Given the description of an element on the screen output the (x, y) to click on. 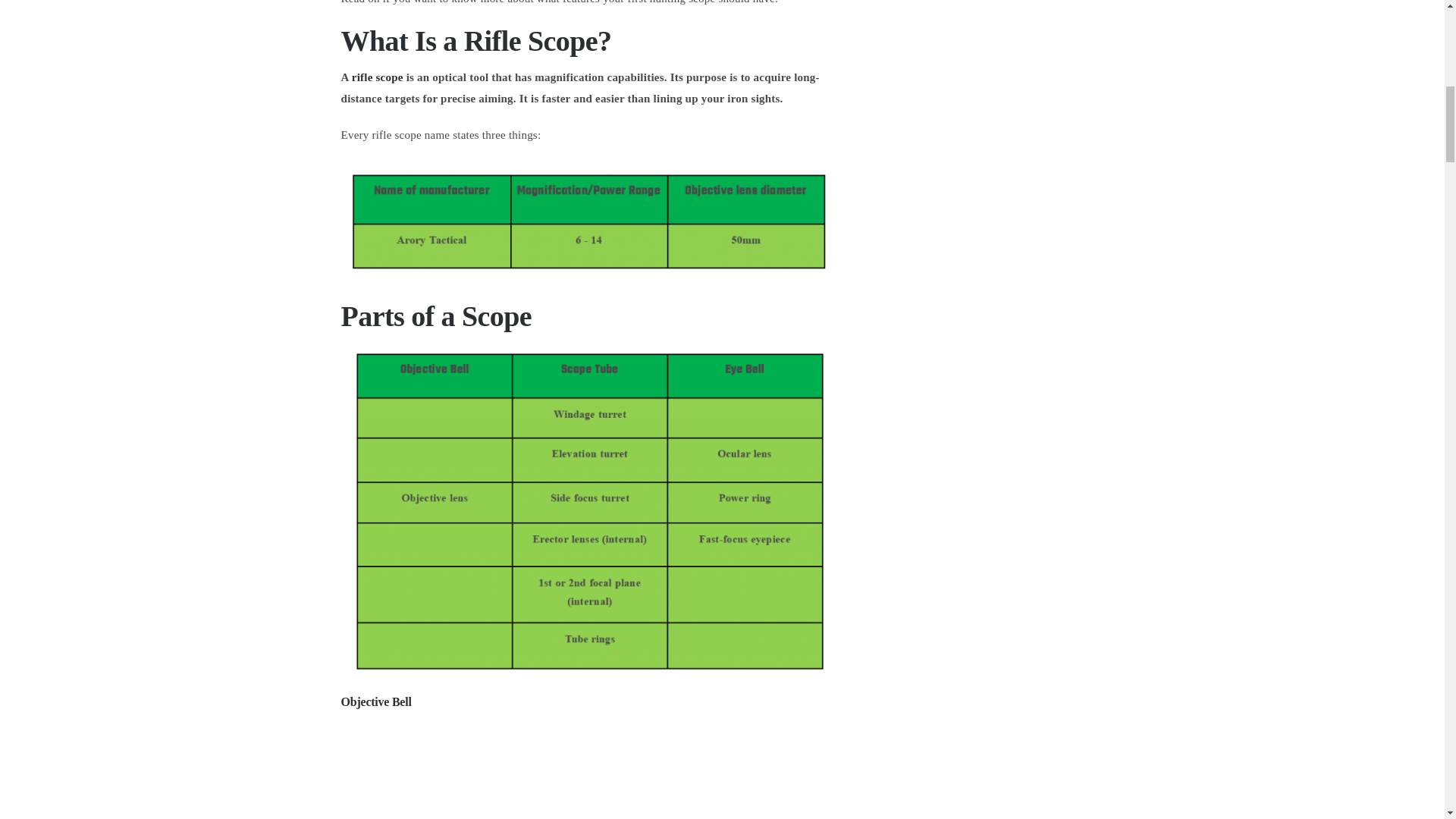
rifle scope (377, 77)
